Given the description of an element on the screen output the (x, y) to click on. 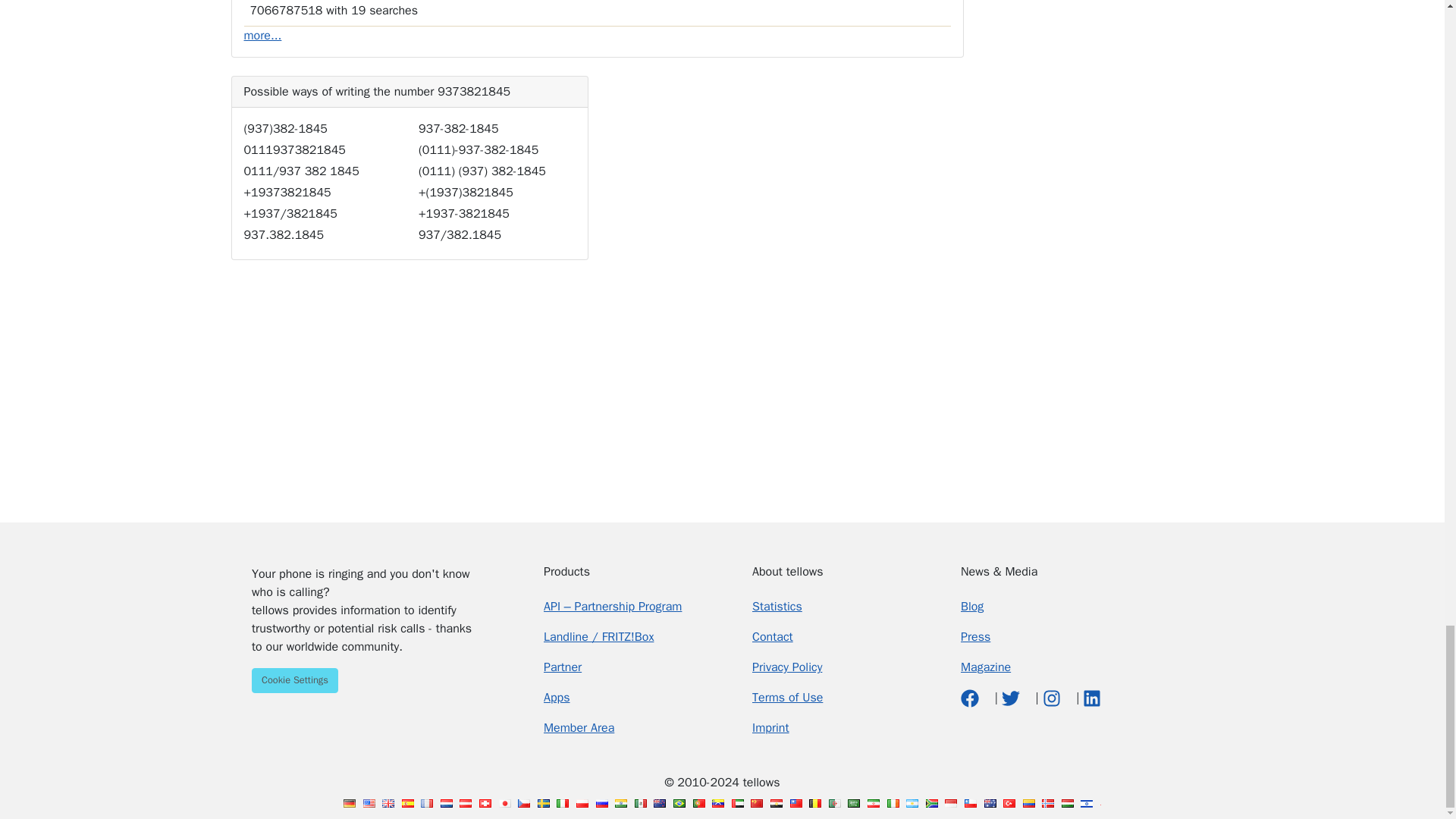
Blog (972, 606)
Magazin (985, 667)
tellows Germany (349, 803)
twitter (1012, 697)
tellows Spain (407, 803)
tellows Austria (465, 803)
Presse (975, 636)
LinkedIn (1091, 697)
tellows France (426, 803)
tellows Netherlands (446, 803)
Instagram (1053, 697)
tellows USA (368, 803)
tellows Great Britain (387, 803)
Facebook (971, 697)
